Given the description of an element on the screen output the (x, y) to click on. 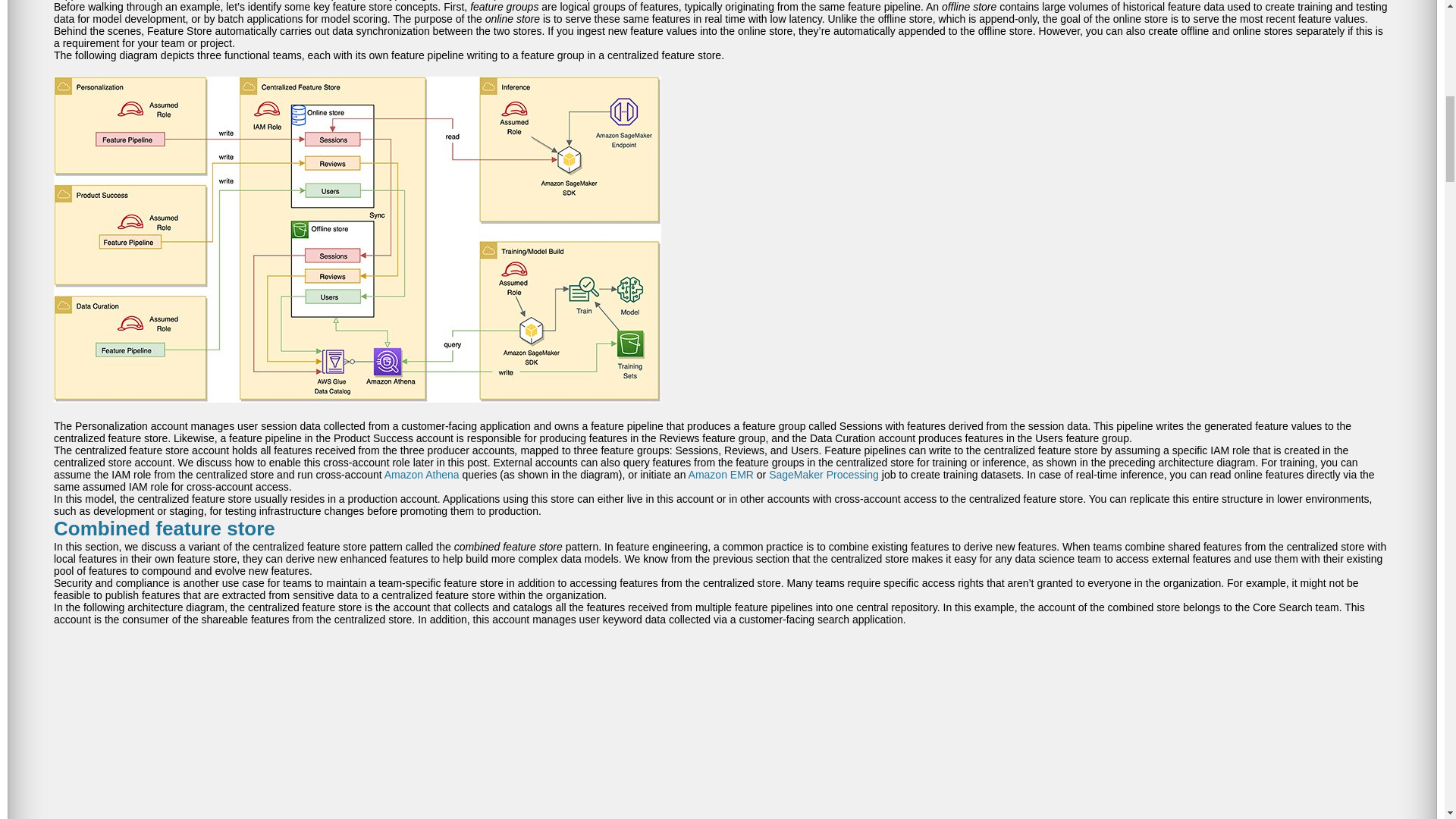
Amazon Athena (422, 474)
SageMaker Processing (823, 474)
Amazon EMR (721, 474)
